Given the description of an element on the screen output the (x, y) to click on. 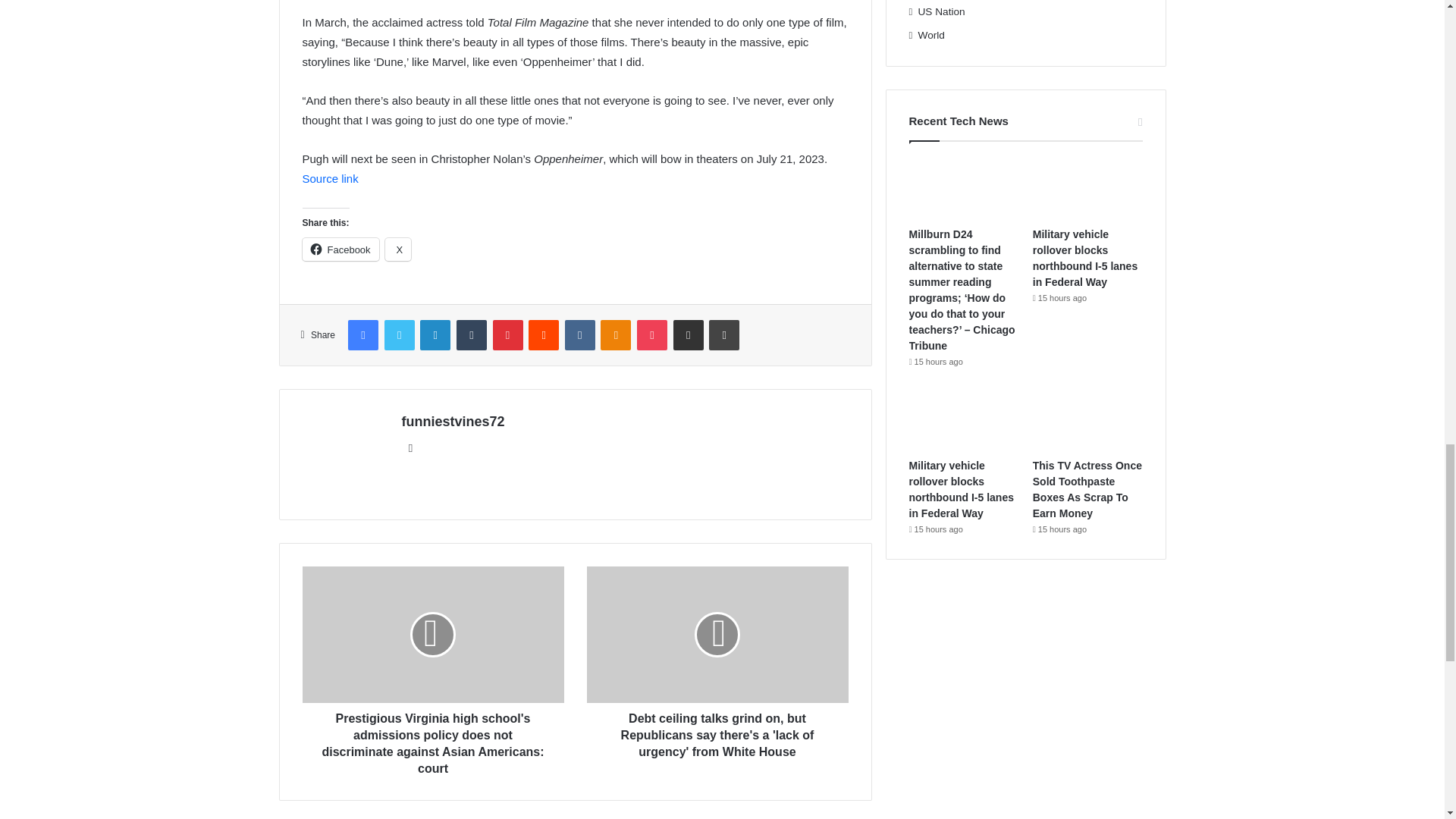
Click to share on Facebook (339, 249)
